Given the description of an element on the screen output the (x, y) to click on. 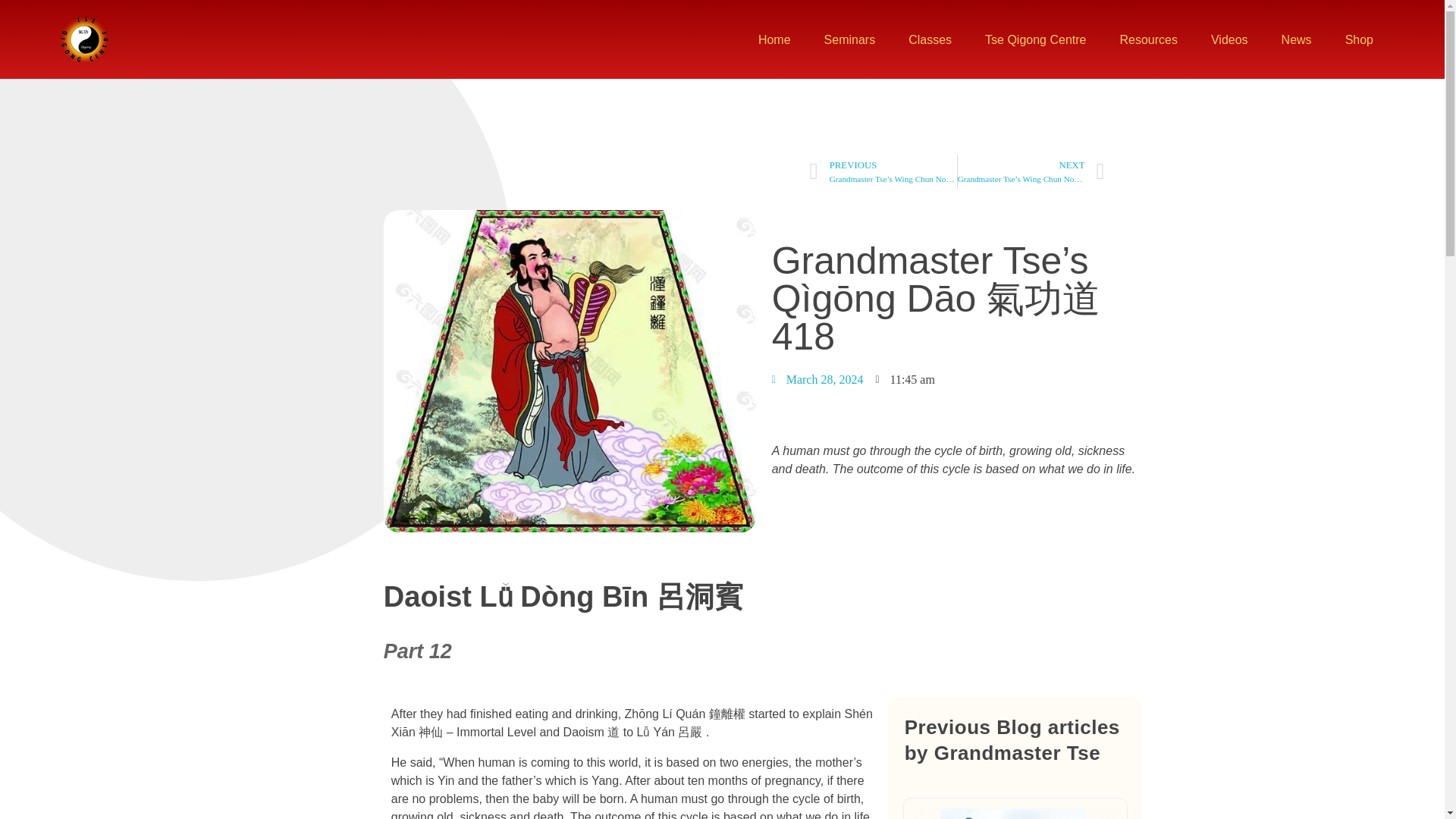
Resources (1147, 38)
Seminars (850, 34)
Tse Qigong Centre (1035, 35)
Home (774, 32)
Tse Qigong Centre (140, 70)
March 28, 2024 (817, 380)
Tse Qigong Centre (140, 63)
News (1296, 38)
Classes (929, 34)
Videos (1229, 38)
Tse Qigong Centre (84, 39)
Shop (1358, 38)
